Given the description of an element on the screen output the (x, y) to click on. 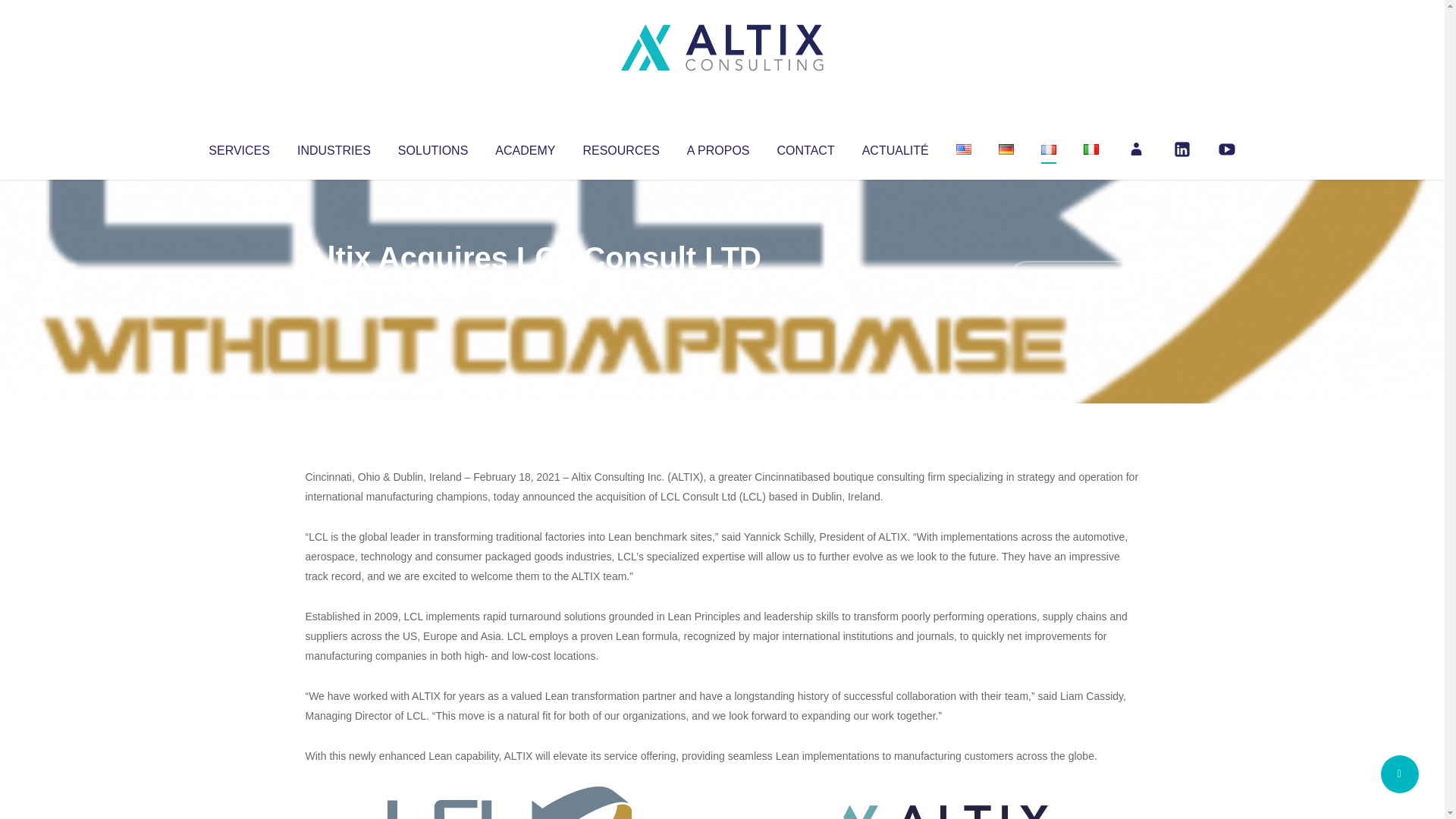
Uncategorized (530, 287)
SERVICES (238, 146)
A PROPOS (718, 146)
Altix (333, 287)
INDUSTRIES (334, 146)
ACADEMY (524, 146)
No Comments (1073, 278)
SOLUTIONS (432, 146)
Articles par Altix (333, 287)
RESOURCES (620, 146)
